Given the description of an element on the screen output the (x, y) to click on. 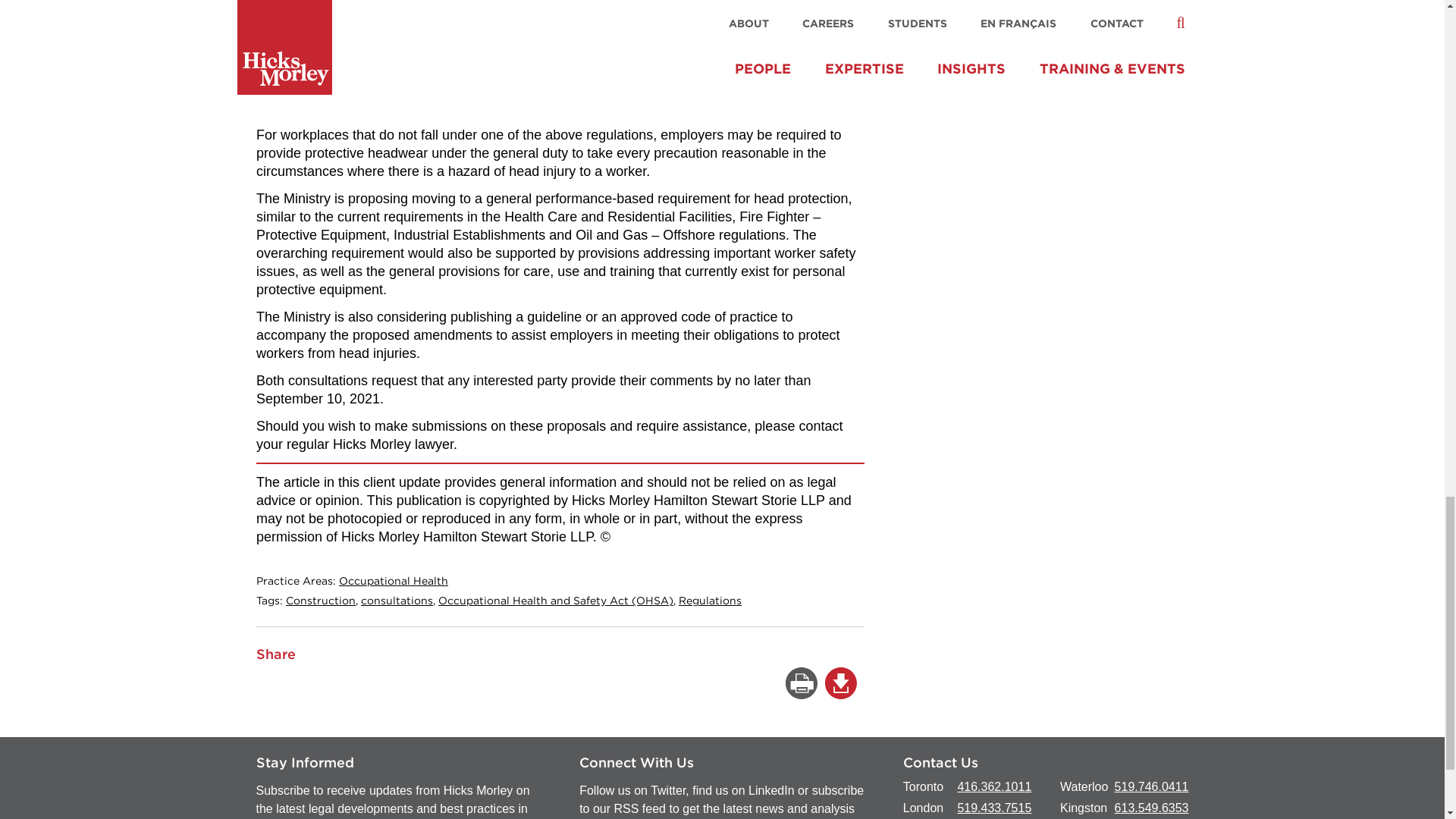
Download PDF (841, 683)
Click to print (801, 683)
